Given the description of an element on the screen output the (x, y) to click on. 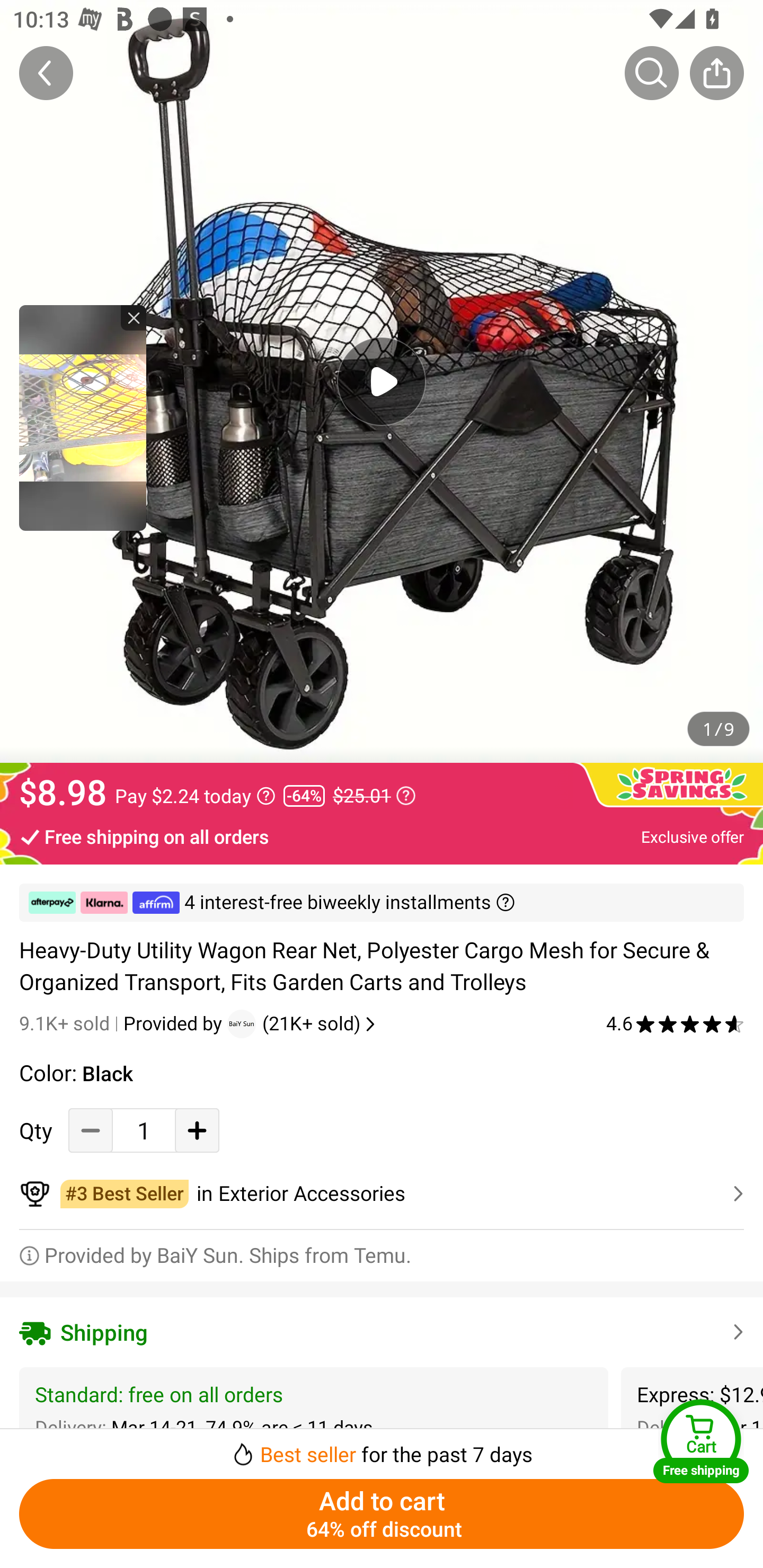
Back (46, 72)
Share (716, 72)
tronplayer_view (82, 417)
Pay $2.24 today   (195, 795)
Free shipping on all orders Exclusive offer (381, 836)
￼ ￼ ￼ 4 interest-free biweekly installments ￼ (381, 902)
9.1K+ sold Provided by  (123, 1023)
4.6 (674, 1023)
Decrease Quantity Button (90, 1130)
1 (143, 1130)
Add Quantity button (196, 1130)
￼￼in Exterior Accessories (381, 1193)
Shipping (381, 1331)
Cart Free shipping Cart (701, 1440)
￼￼Best seller for the past 7 days (381, 1448)
Add to cart  64% off discount (381, 1513)
